Given the description of an element on the screen output the (x, y) to click on. 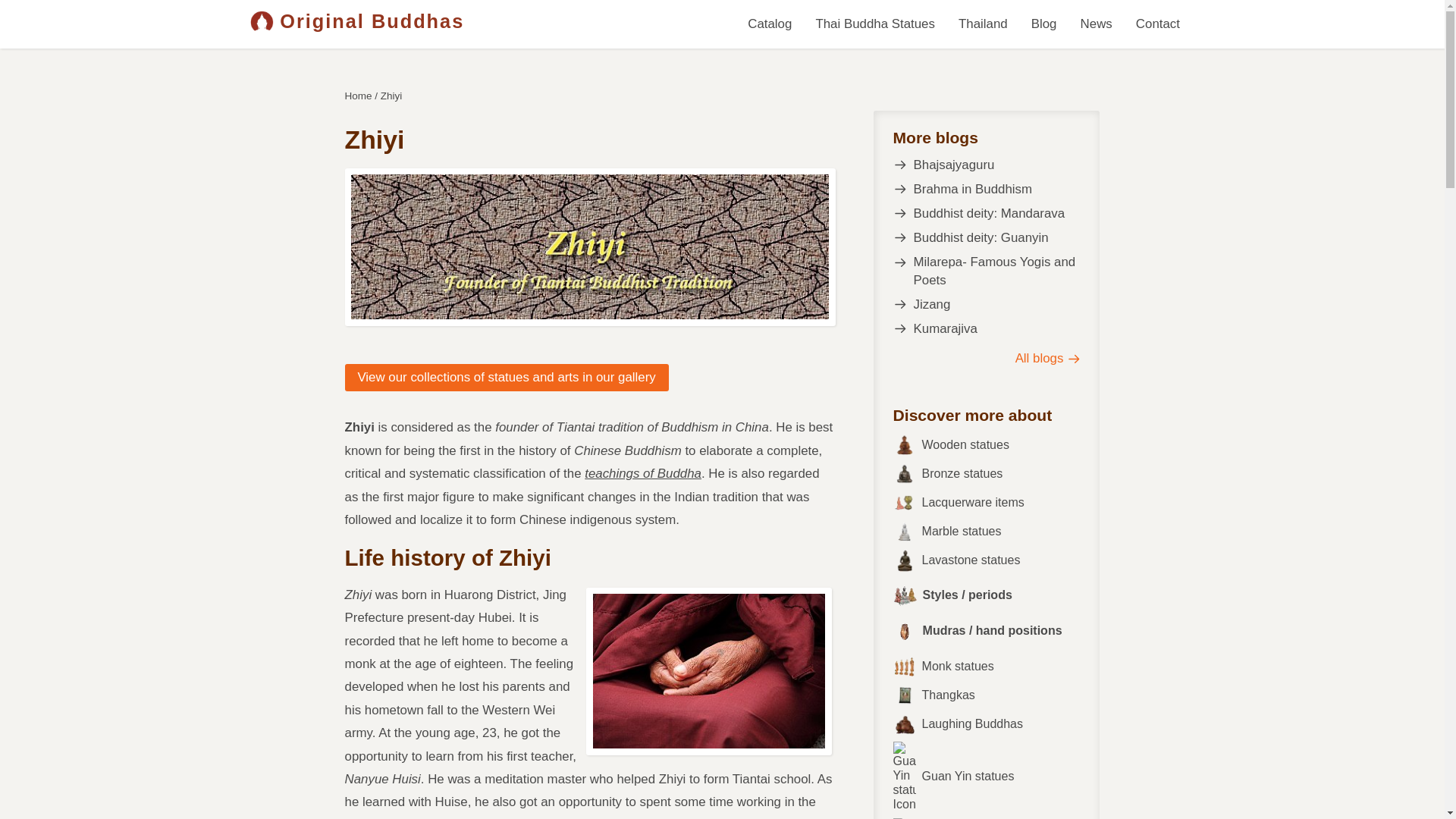
Jizang (987, 304)
Bhajsajyaguru (987, 165)
teachings of Buddha (643, 473)
Catalog (770, 24)
All blogs (987, 358)
Home (358, 95)
Lacquerware items (987, 502)
Original Buddhas (356, 21)
Thailand (982, 24)
Blog (1043, 24)
